Given the description of an element on the screen output the (x, y) to click on. 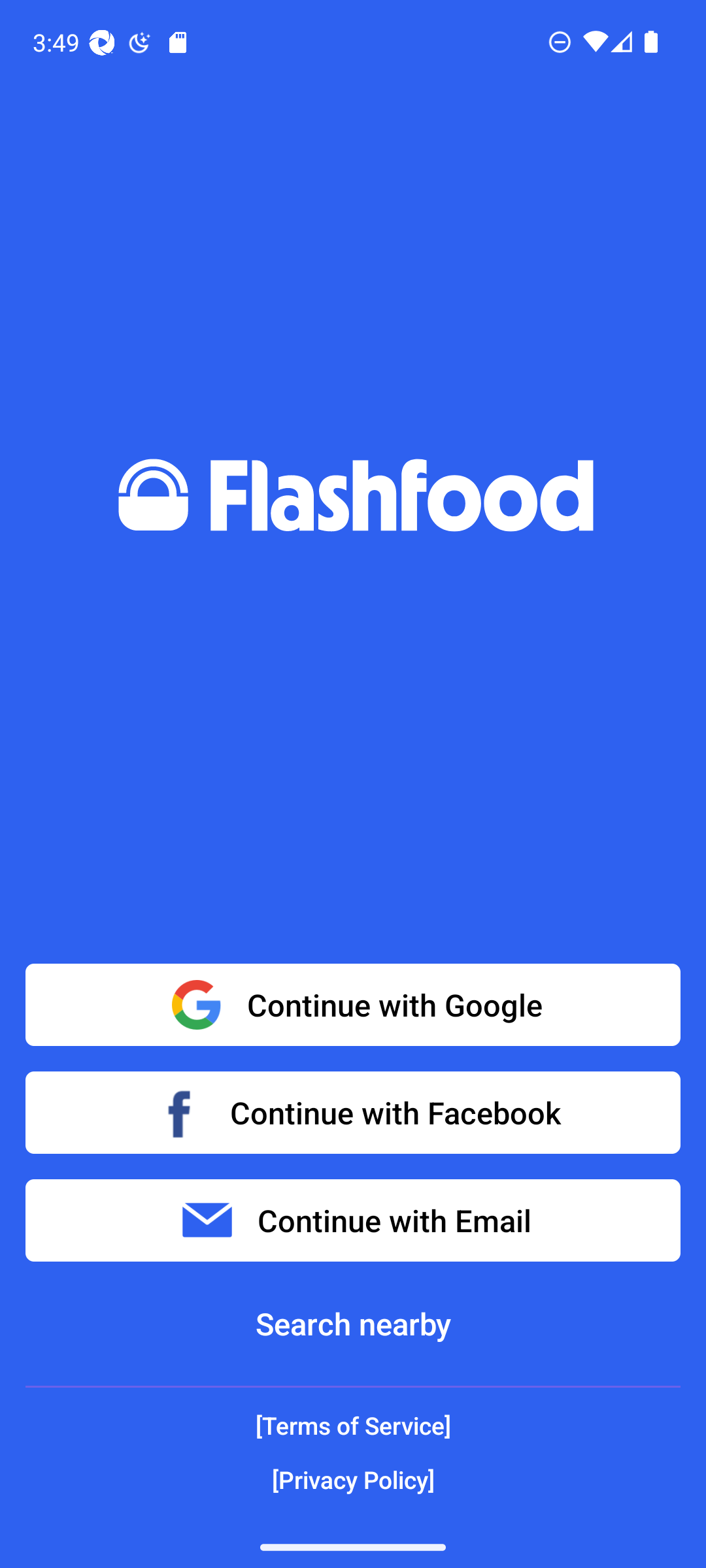
Continue with Google (352, 1004)
Continue with Facebook (352, 1112)
Continue with Email (352, 1220)
Search nearby (352, 1323)
[Terms of Service] (352, 1425)
[Privacy Policy] (352, 1478)
